Given the description of an element on the screen output the (x, y) to click on. 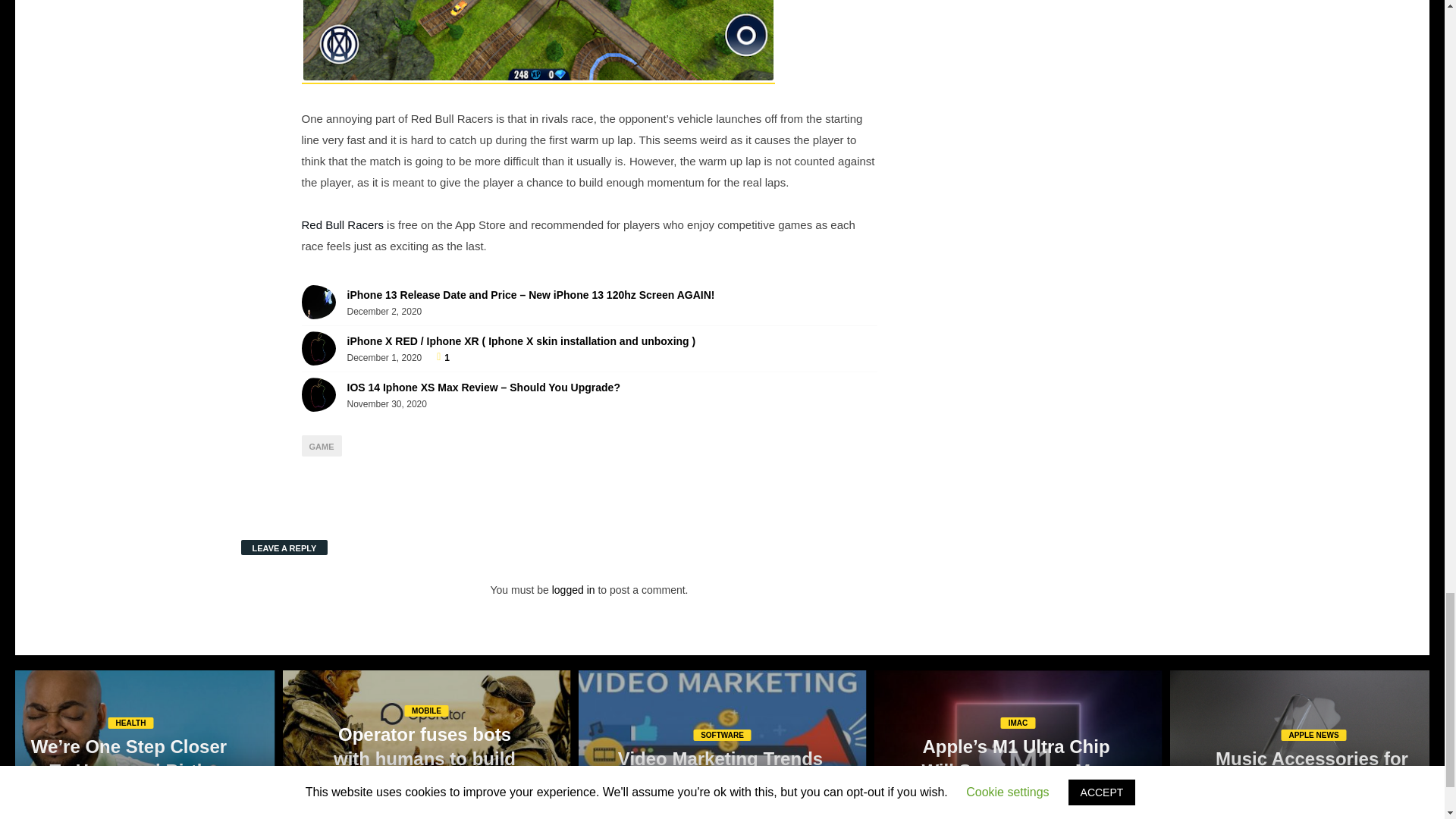
logged in (573, 589)
GAME (321, 445)
